Given the description of an element on the screen output the (x, y) to click on. 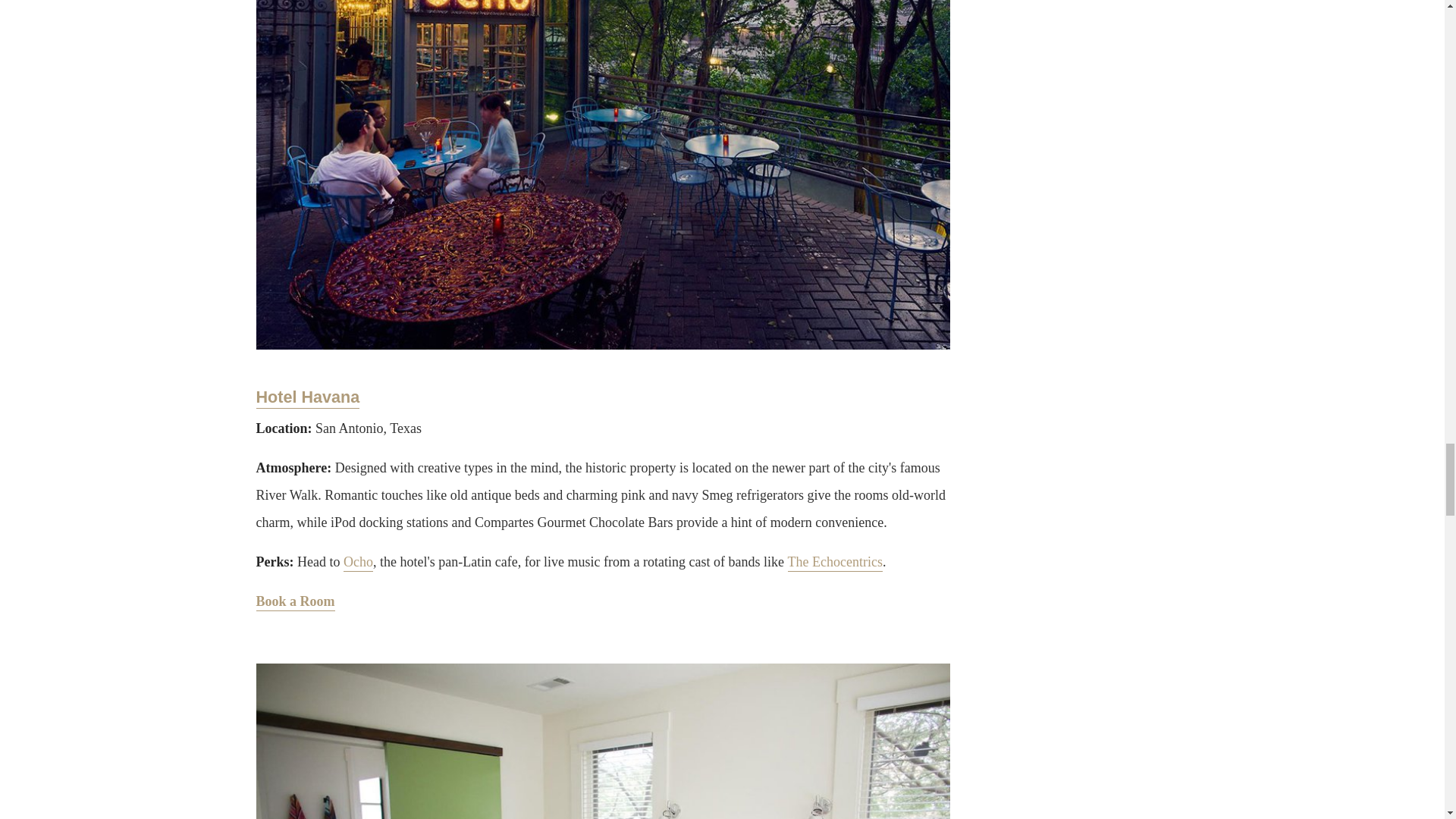
hotel Havana (307, 397)
Book a Room (295, 601)
Hotel Havana (307, 397)
Ocho (357, 562)
Book Hotel Havana (295, 601)
The Echocentrics (834, 562)
Ocho (357, 562)
The Echocentrics (834, 562)
